Given the description of an element on the screen output the (x, y) to click on. 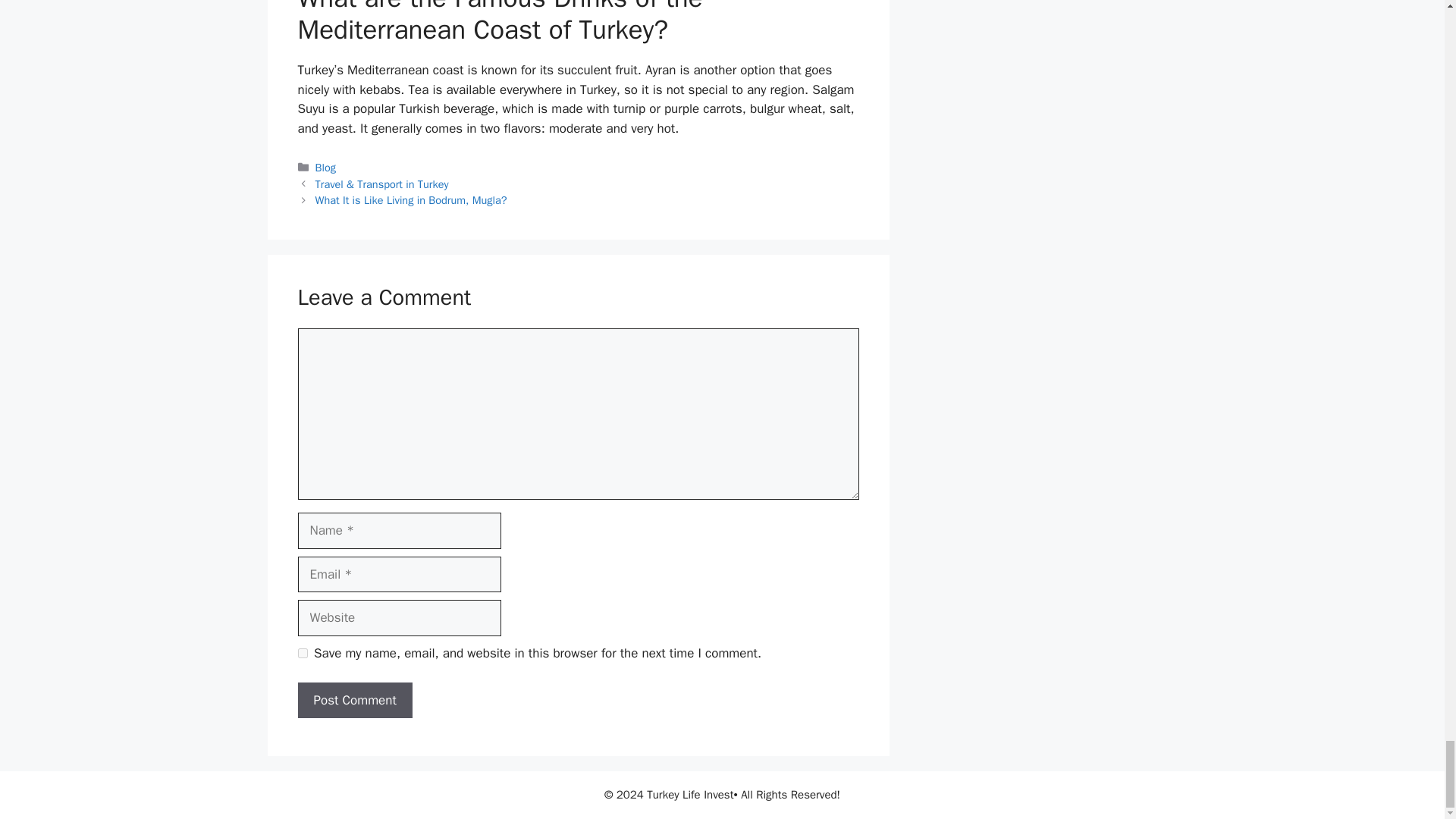
Post Comment (354, 700)
yes (302, 653)
What It is Like Living in Bodrum, Mugla? (410, 200)
Blog (325, 167)
Post Comment (354, 700)
